Given the description of an element on the screen output the (x, y) to click on. 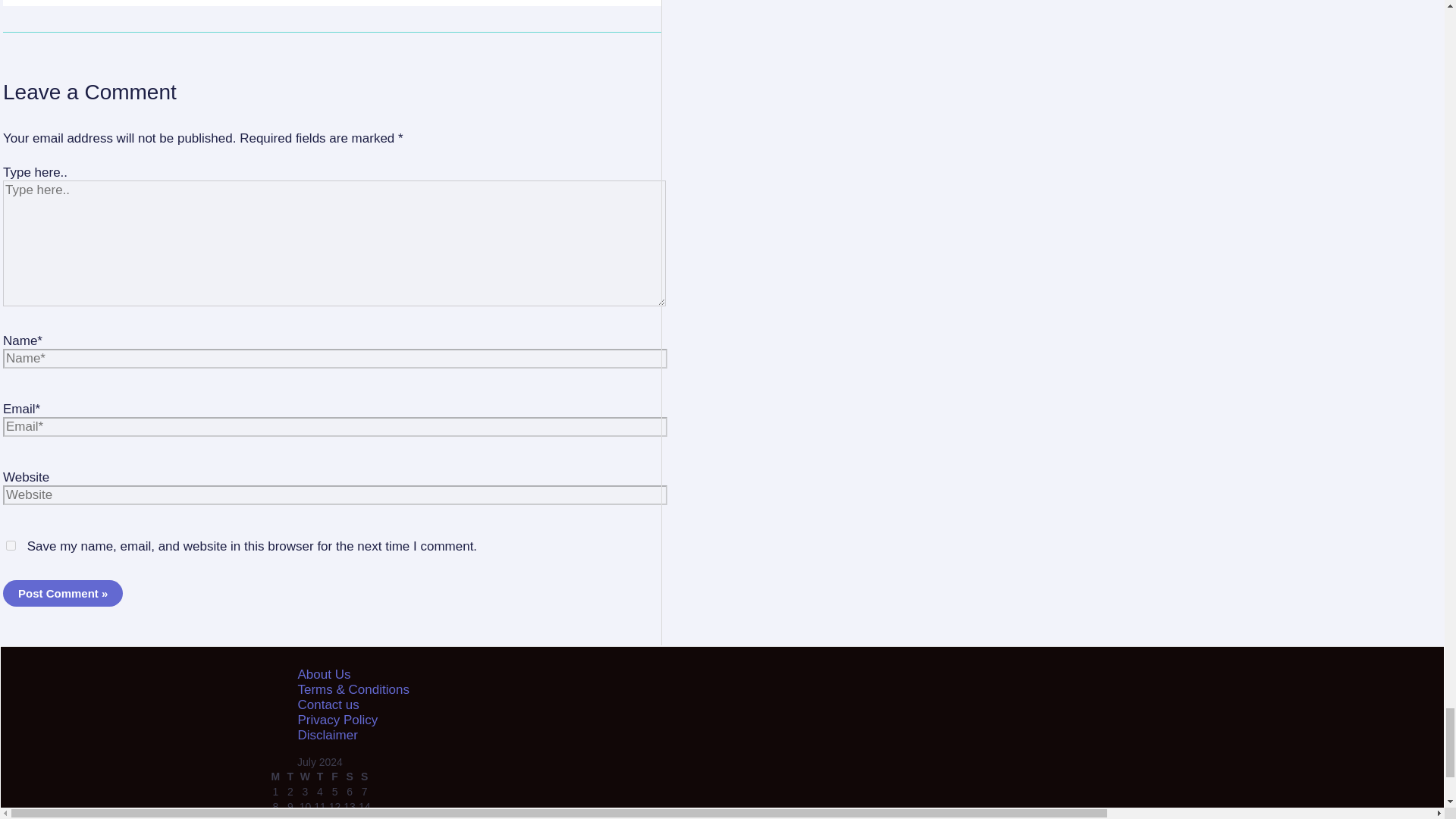
Saturday (349, 775)
Friday (335, 775)
Monday (274, 775)
Wednesday (305, 775)
yes (10, 545)
Thursday (319, 775)
Tuesday (290, 775)
Sunday (364, 775)
